Given the description of an element on the screen output the (x, y) to click on. 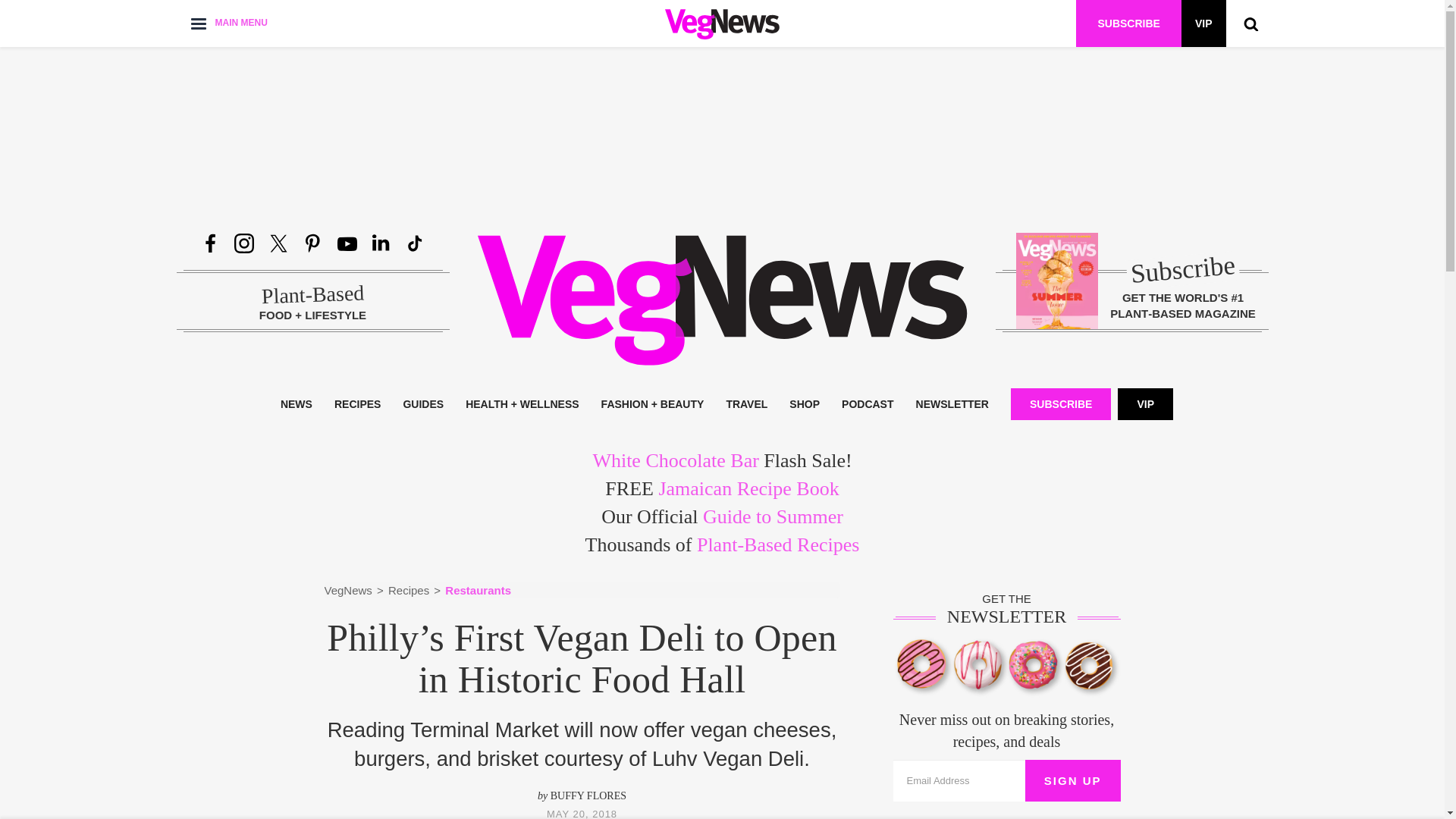
Show search (1250, 22)
Sign Up (1073, 780)
Become a VIP (1202, 23)
MAIN MENU (228, 23)
